Given the description of an element on the screen output the (x, y) to click on. 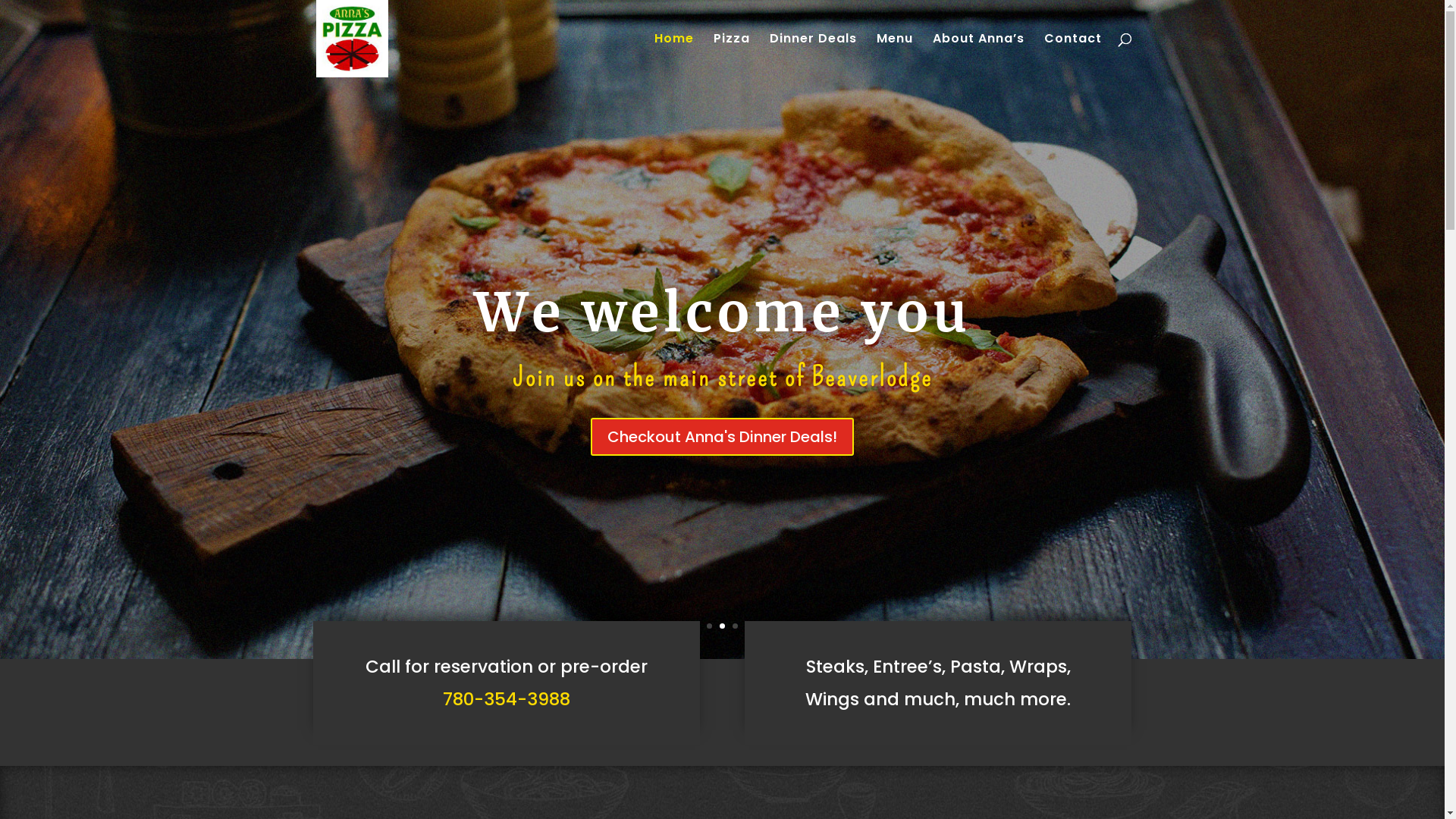
Home Element type: text (673, 55)
1 Element type: text (709, 625)
2 Element type: text (721, 625)
780-354-3988 Element type: text (506, 699)
Checkout Anna's Dinner Deals! Element type: text (721, 436)
Pizza Element type: text (730, 55)
Menu Element type: text (894, 55)
We welcome you Element type: text (721, 312)
Dinner Deals Element type: text (812, 55)
3 Element type: text (734, 625)
Contact Element type: text (1072, 55)
